Given the description of an element on the screen output the (x, y) to click on. 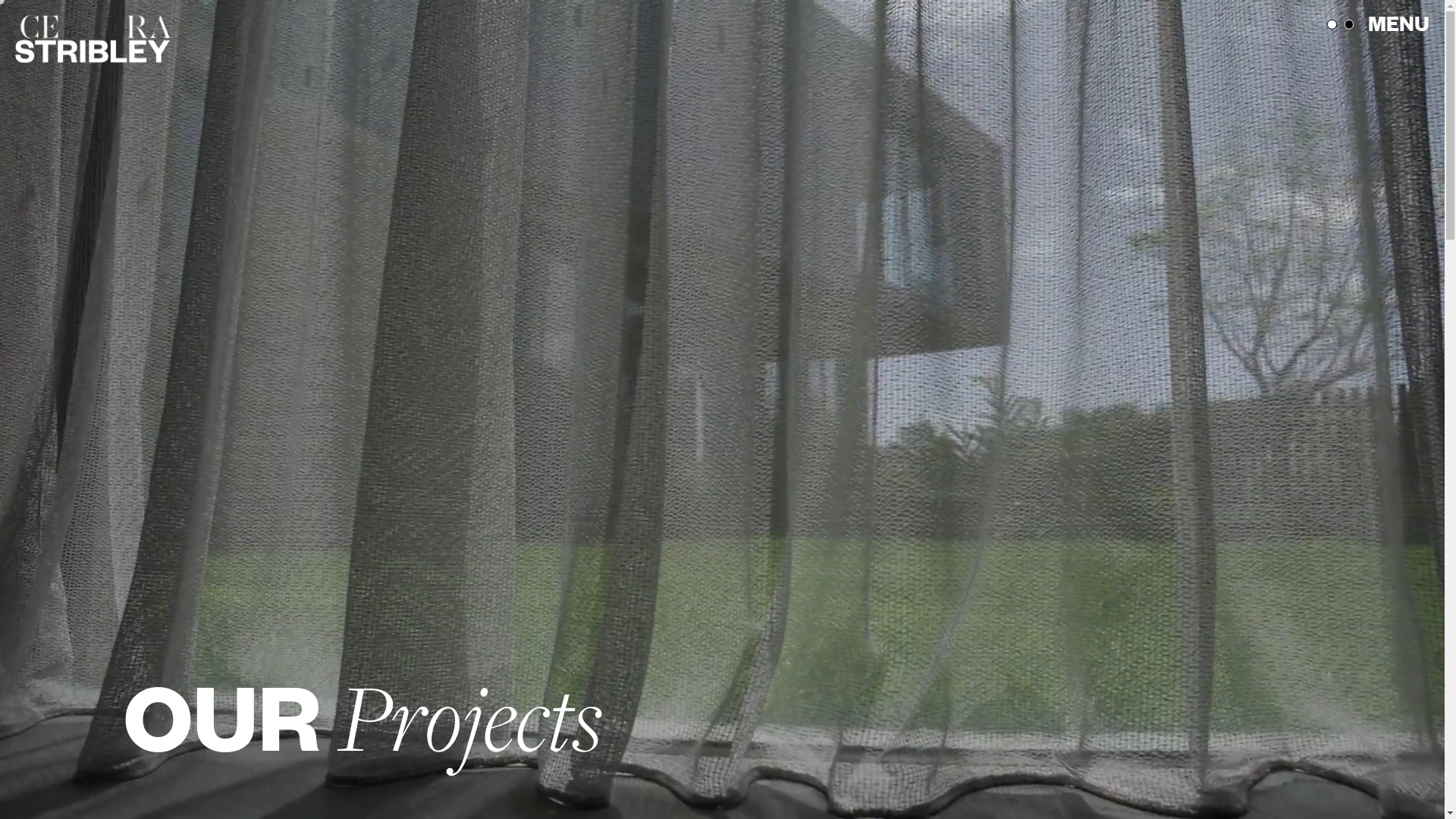
MENU Element type: text (1398, 22)
Skip to content Element type: text (0, 0)
